Given the description of an element on the screen output the (x, y) to click on. 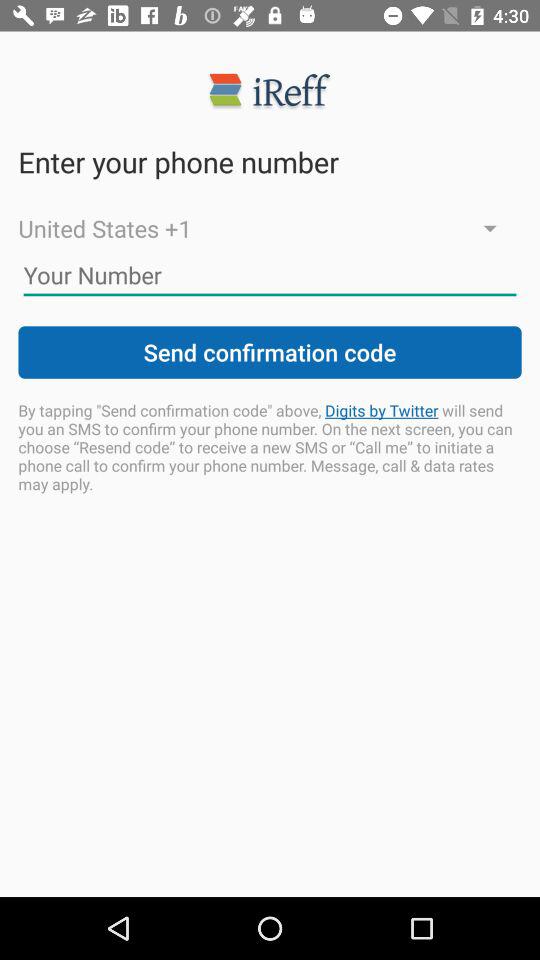
press united states +1 icon (269, 228)
